Given the description of an element on the screen output the (x, y) to click on. 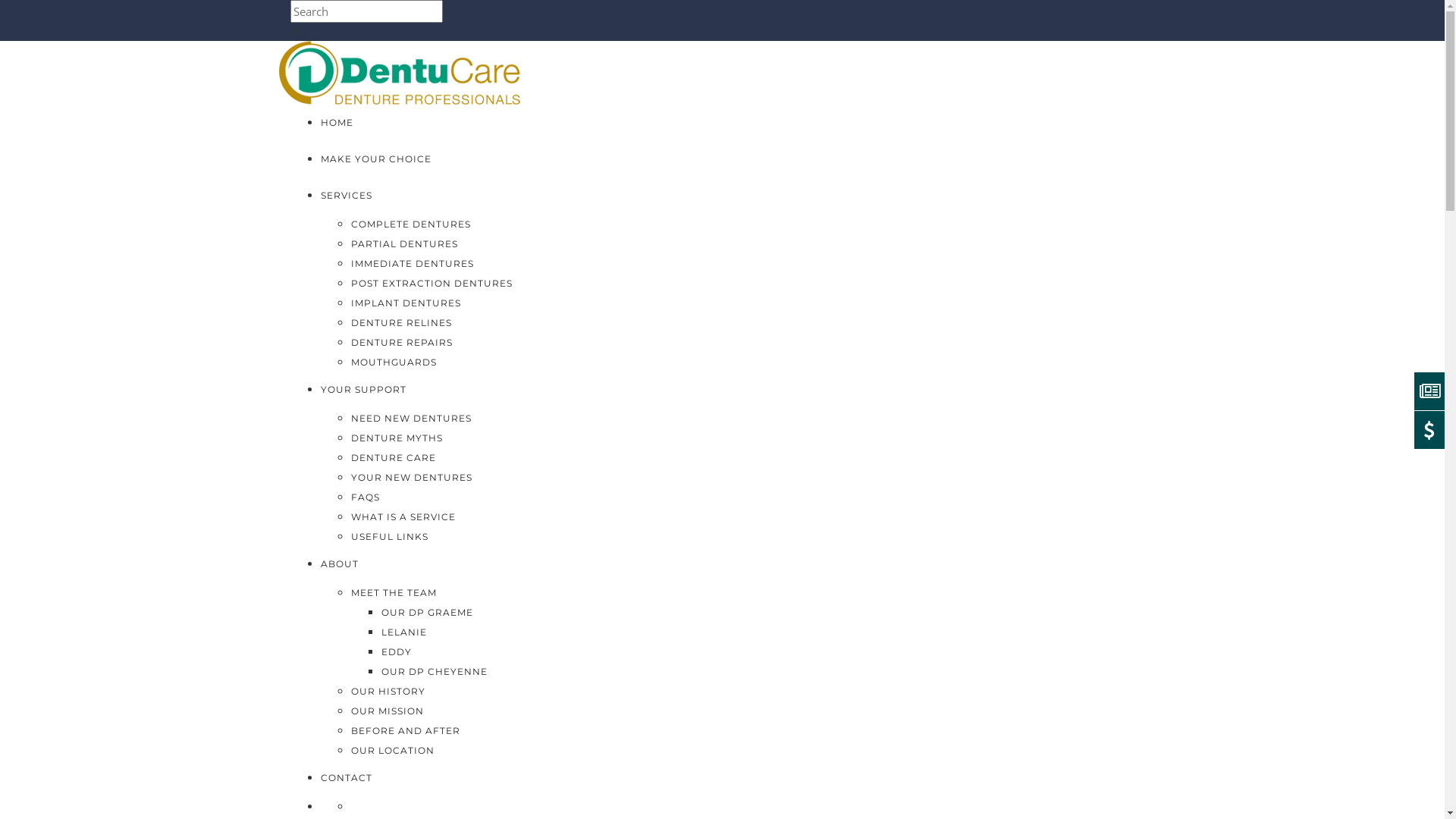
OUR HISTORY Element type: text (387, 690)
ABOUT Element type: text (338, 563)
DENTURE MYTHS Element type: text (396, 437)
CONTACT Element type: text (345, 777)
MOUTHGUARDS Element type: text (393, 361)
MAKE YOUR CHOICE Element type: text (375, 158)
EDDY Element type: text (395, 651)
DENTURE RELINES Element type: text (400, 322)
POST EXTRACTION DENTURES Element type: text (430, 282)
SERVICES Element type: text (345, 194)
OUR LOCATION Element type: text (391, 750)
PARTIAL DENTURES Element type: text (403, 243)
COMPLETE DENTURES Element type: text (410, 223)
IMMEDIATE DENTURES Element type: text (411, 263)
FAQS Element type: text (364, 496)
HOME Element type: text (336, 122)
OUR MISSION Element type: text (386, 710)
IMPLANT DENTURES Element type: text (405, 302)
MEET THE TEAM Element type: text (393, 592)
NEED NEW DENTURES Element type: text (410, 417)
DENTURE CARE Element type: text (392, 457)
OUR DP CHEYENNE Element type: text (433, 671)
DentuCare Element type: hover (399, 70)
WHAT IS A SERVICE Element type: text (402, 516)
DENTURE REPAIRS Element type: text (400, 342)
USEFUL LINKS Element type: text (388, 536)
LELANIE Element type: text (403, 631)
YOUR NEW DENTURES Element type: text (410, 477)
YOUR SUPPORT Element type: text (362, 389)
OUR DP GRAEME Element type: text (426, 612)
BEFORE AND AFTER Element type: text (404, 730)
